Given the description of an element on the screen output the (x, y) to click on. 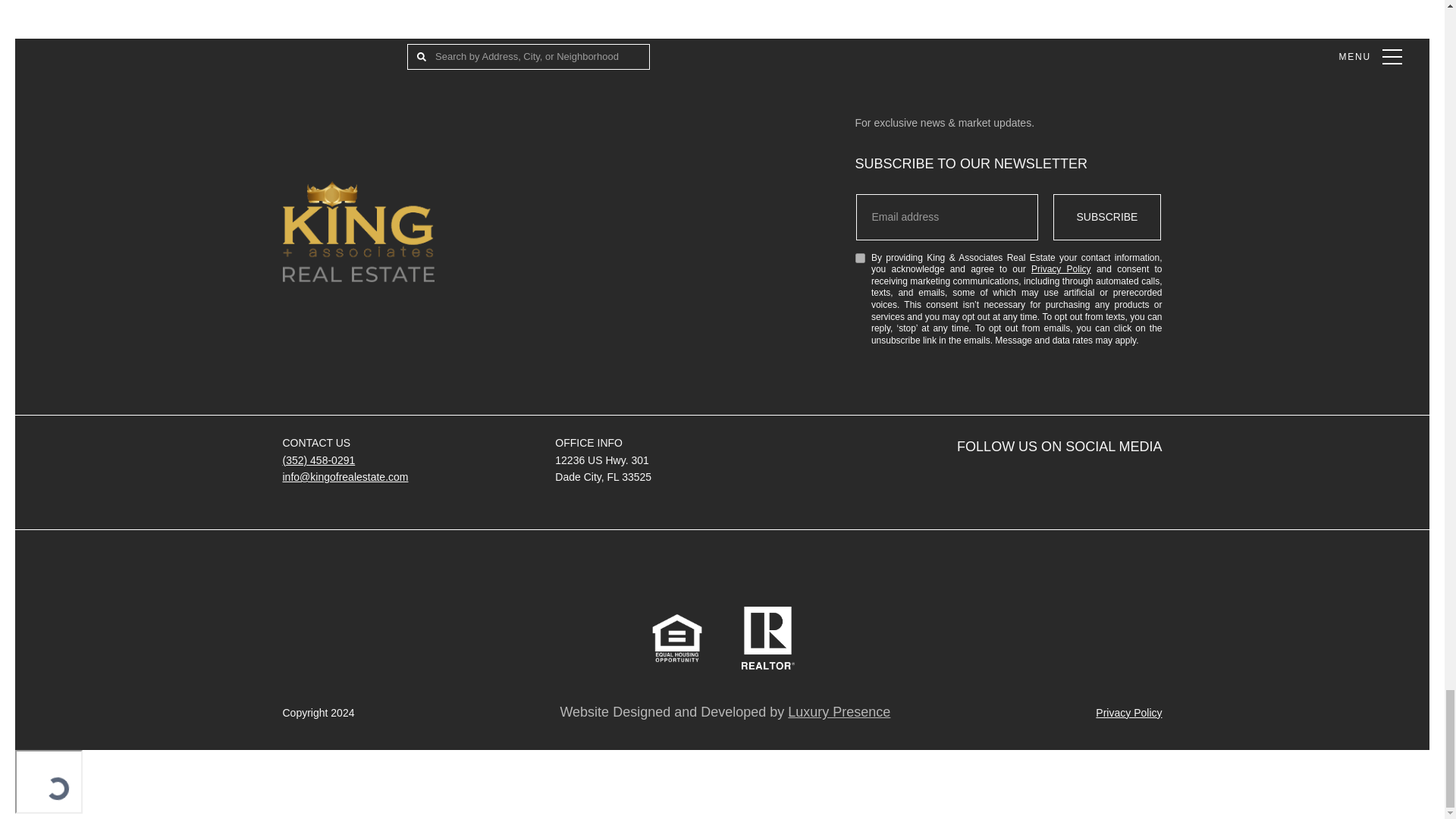
on (860, 257)
